Given the description of an element on the screen output the (x, y) to click on. 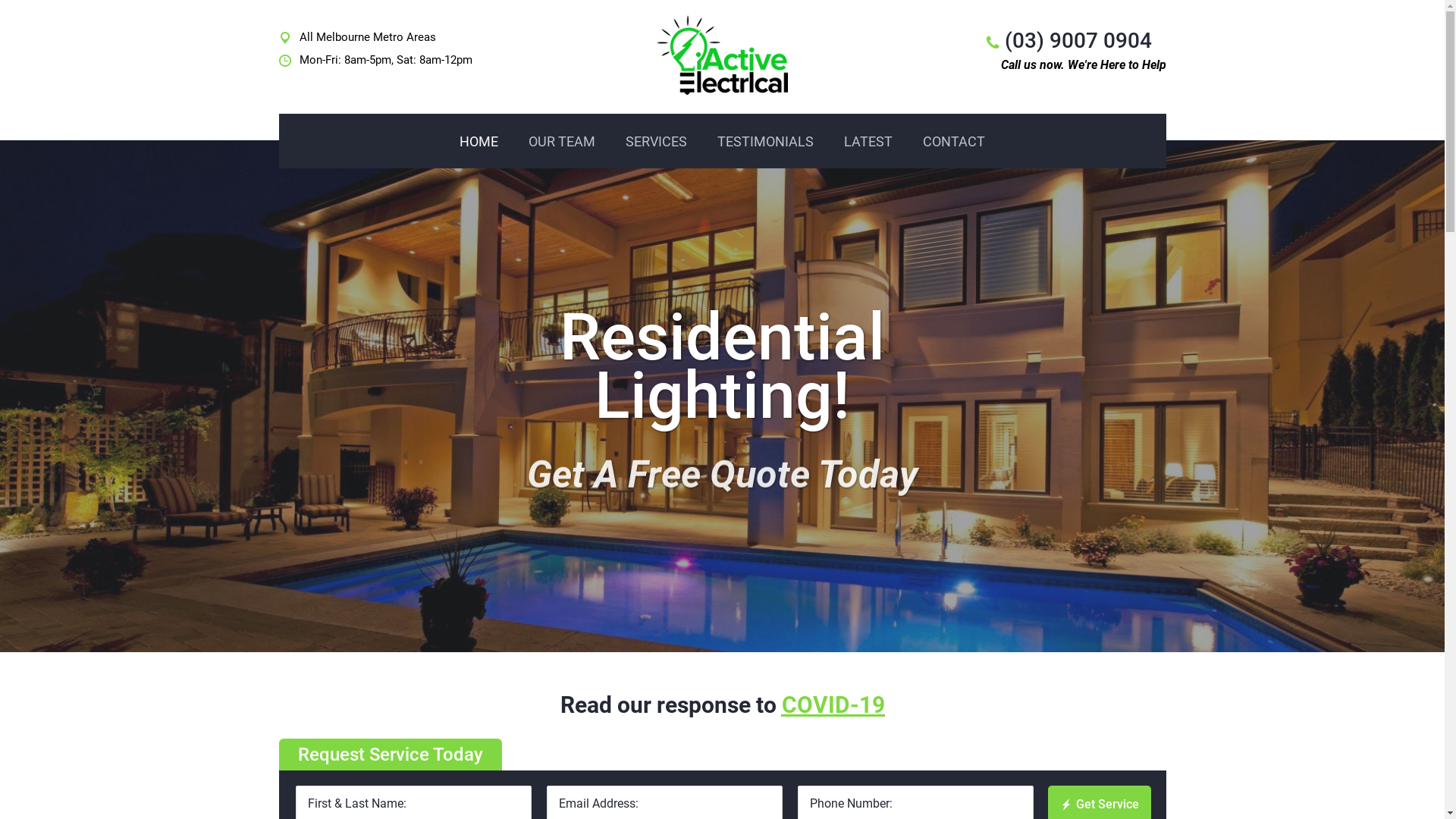
OUR TEAM Element type: text (561, 141)
TESTIMONIALS Element type: text (765, 141)
COVID-19 Element type: text (832, 704)
HOME Element type: text (478, 141)
(03) 9007 0904 Element type: text (1077, 40)
SERVICES Element type: text (656, 141)
LATEST Element type: text (867, 141)
CONTACT Element type: text (953, 141)
